Given the description of an element on the screen output the (x, y) to click on. 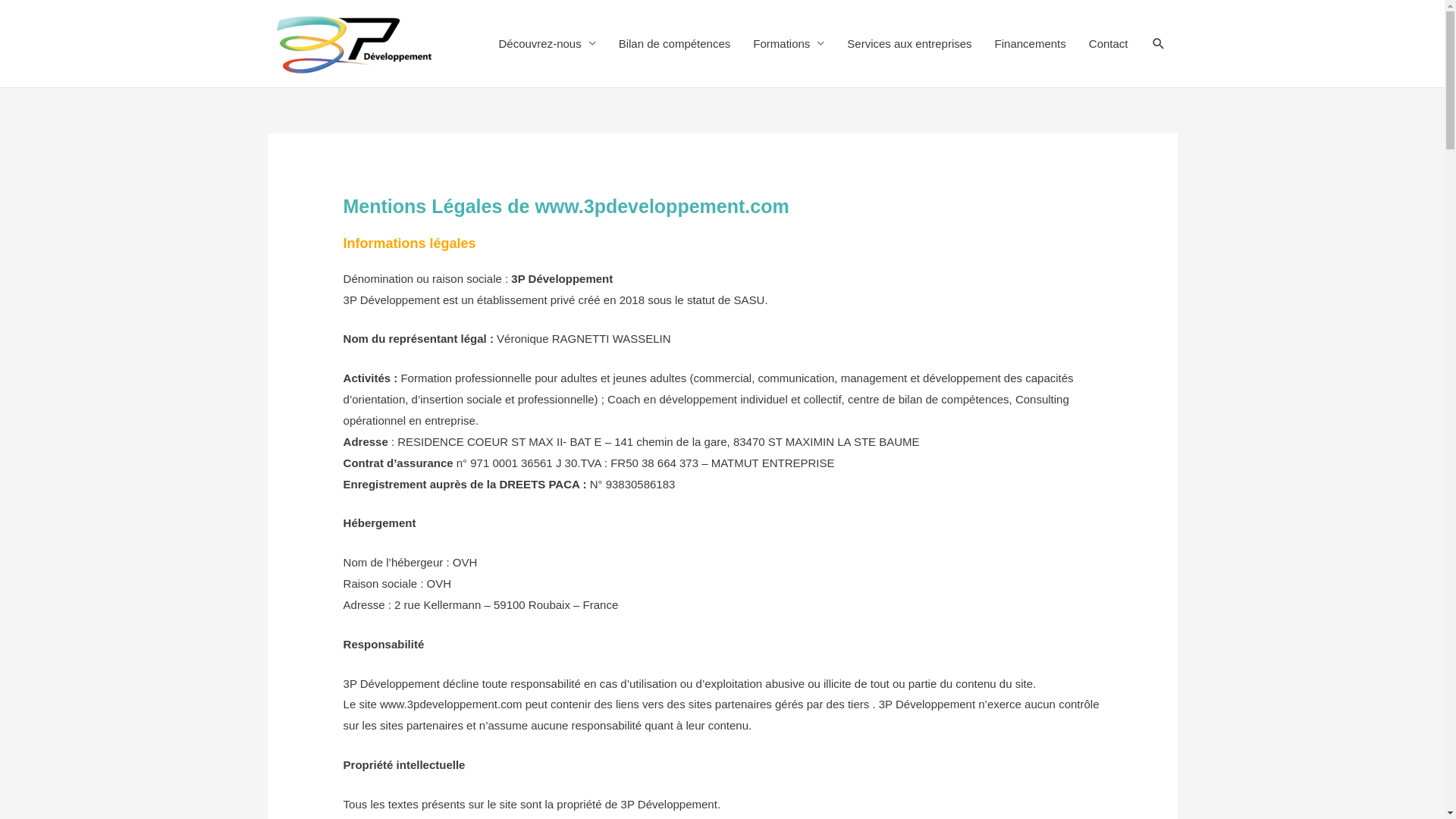
Financements Element type: text (1030, 43)
Rechercher Element type: text (1158, 43)
Formations Element type: text (788, 43)
Rechercher Element type: text (34, 11)
Services aux entreprises Element type: text (908, 43)
Contact Element type: text (1108, 43)
